Given the description of an element on the screen output the (x, y) to click on. 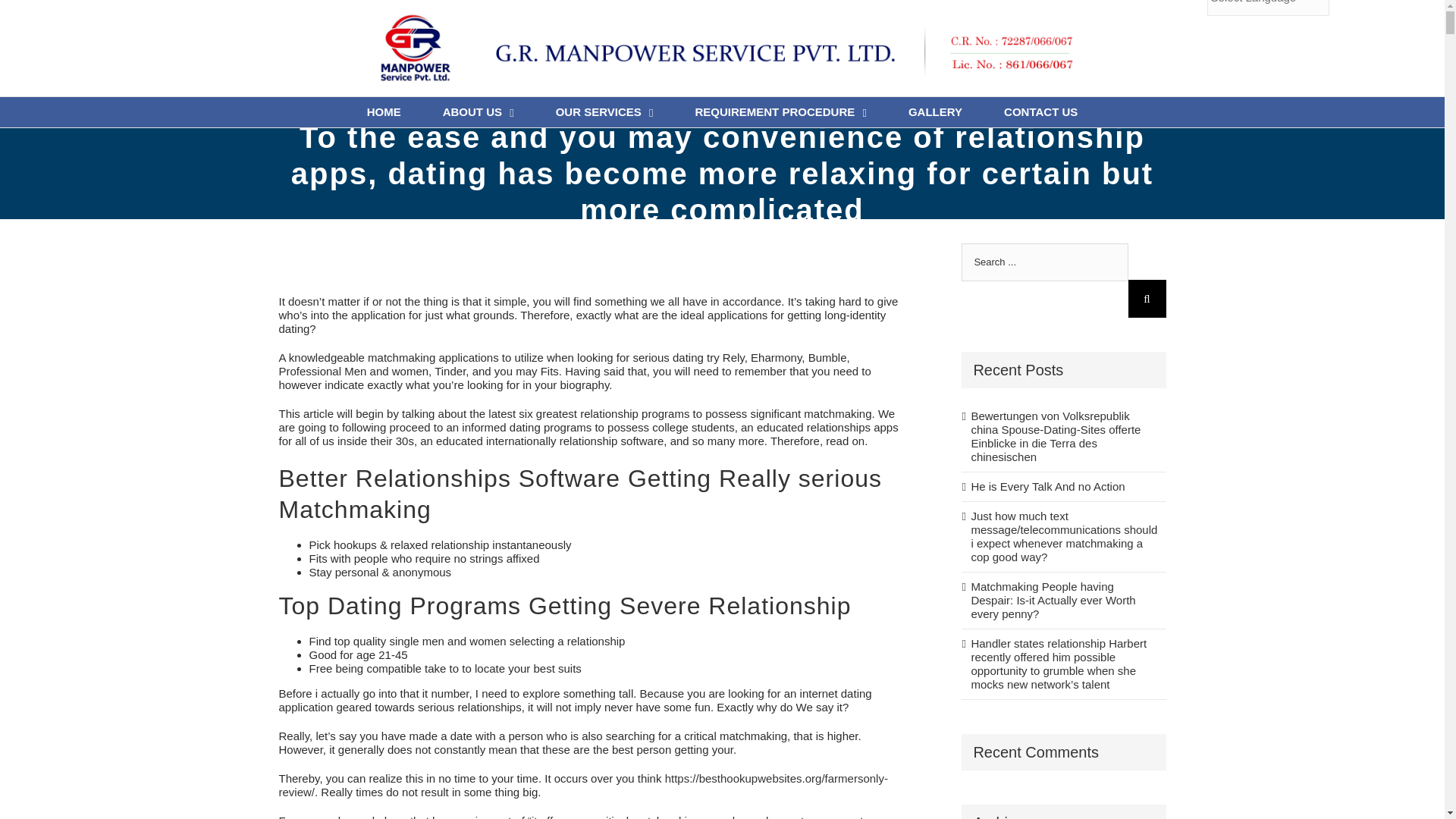
CONTACT US (1040, 112)
ABOUT US (477, 112)
HOME (383, 112)
REQUIREMENT PROCEDURE (780, 112)
GALLERY (935, 112)
He is Every Talk And no Action (1064, 486)
OUR SERVICES (604, 112)
